Given the description of an element on the screen output the (x, y) to click on. 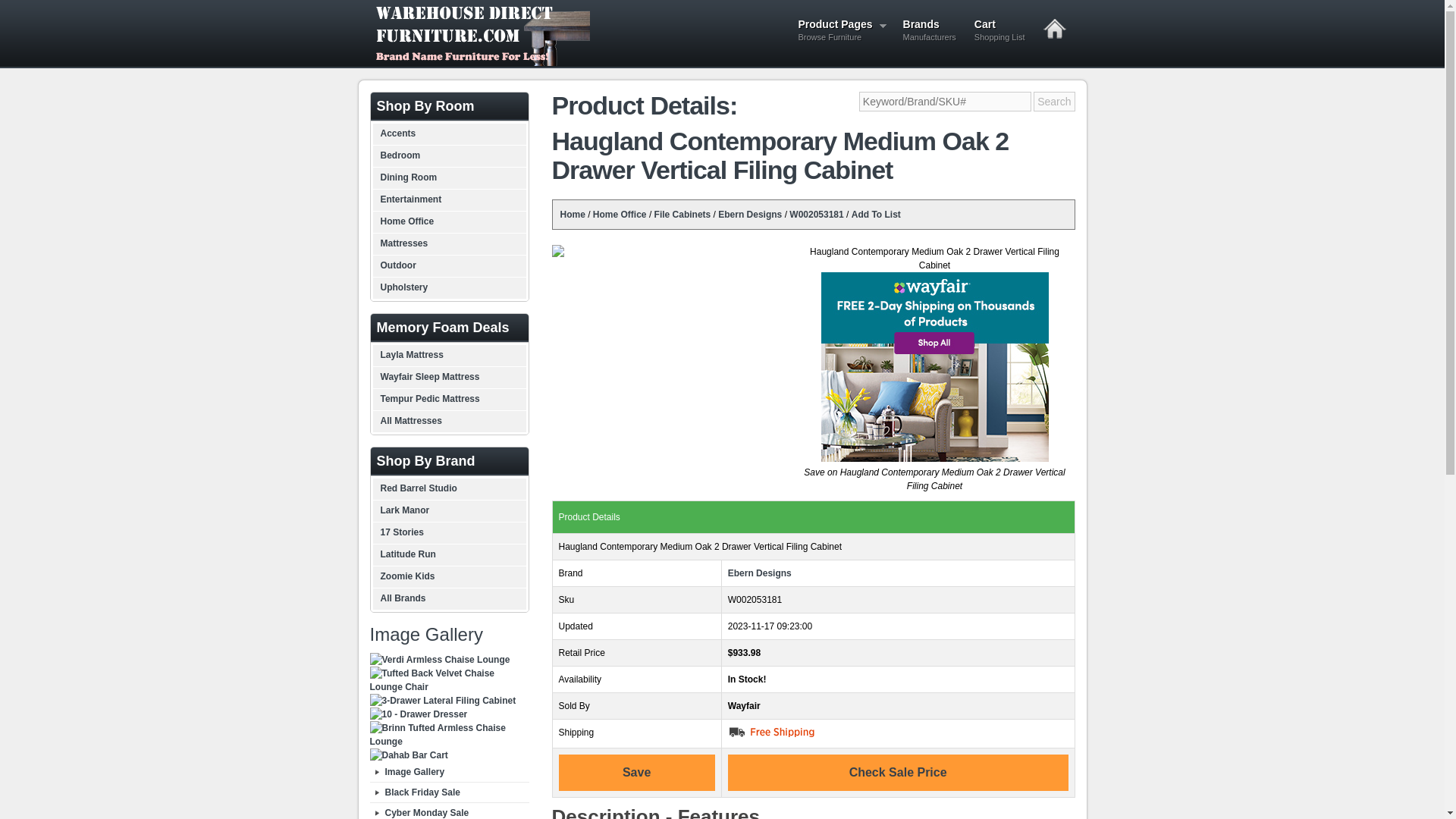
Home (572, 214)
Tufted Back Velvet Chaise Lounge Chair (449, 679)
Home Office (619, 214)
Free Shipping! (771, 731)
Ebern Designs (749, 214)
Ebern Designs (841, 31)
Check Sale Price (760, 573)
Add To List (897, 771)
Save (876, 214)
